Given the description of an element on the screen output the (x, y) to click on. 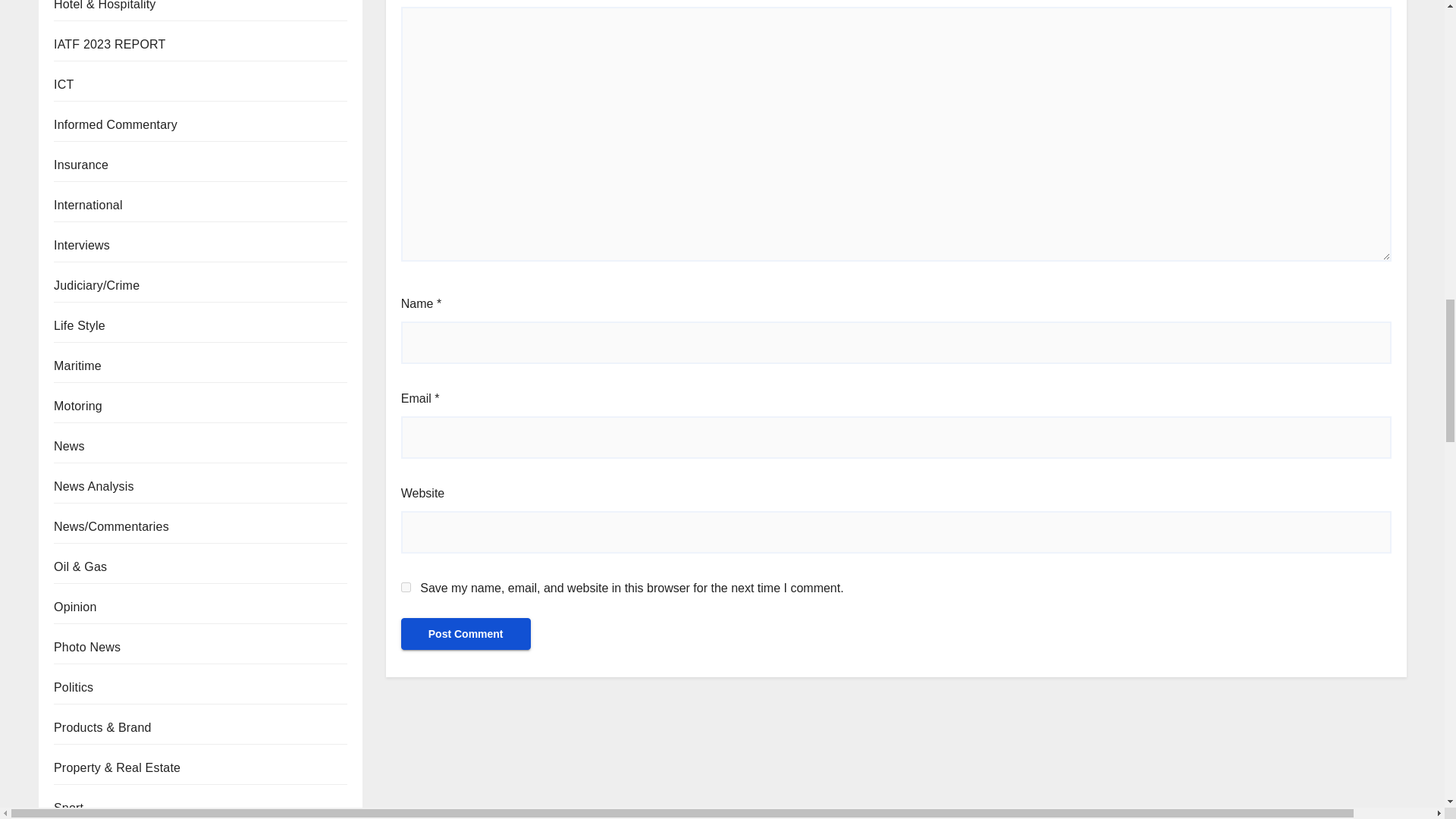
Post Comment (466, 634)
yes (405, 587)
